Given the description of an element on the screen output the (x, y) to click on. 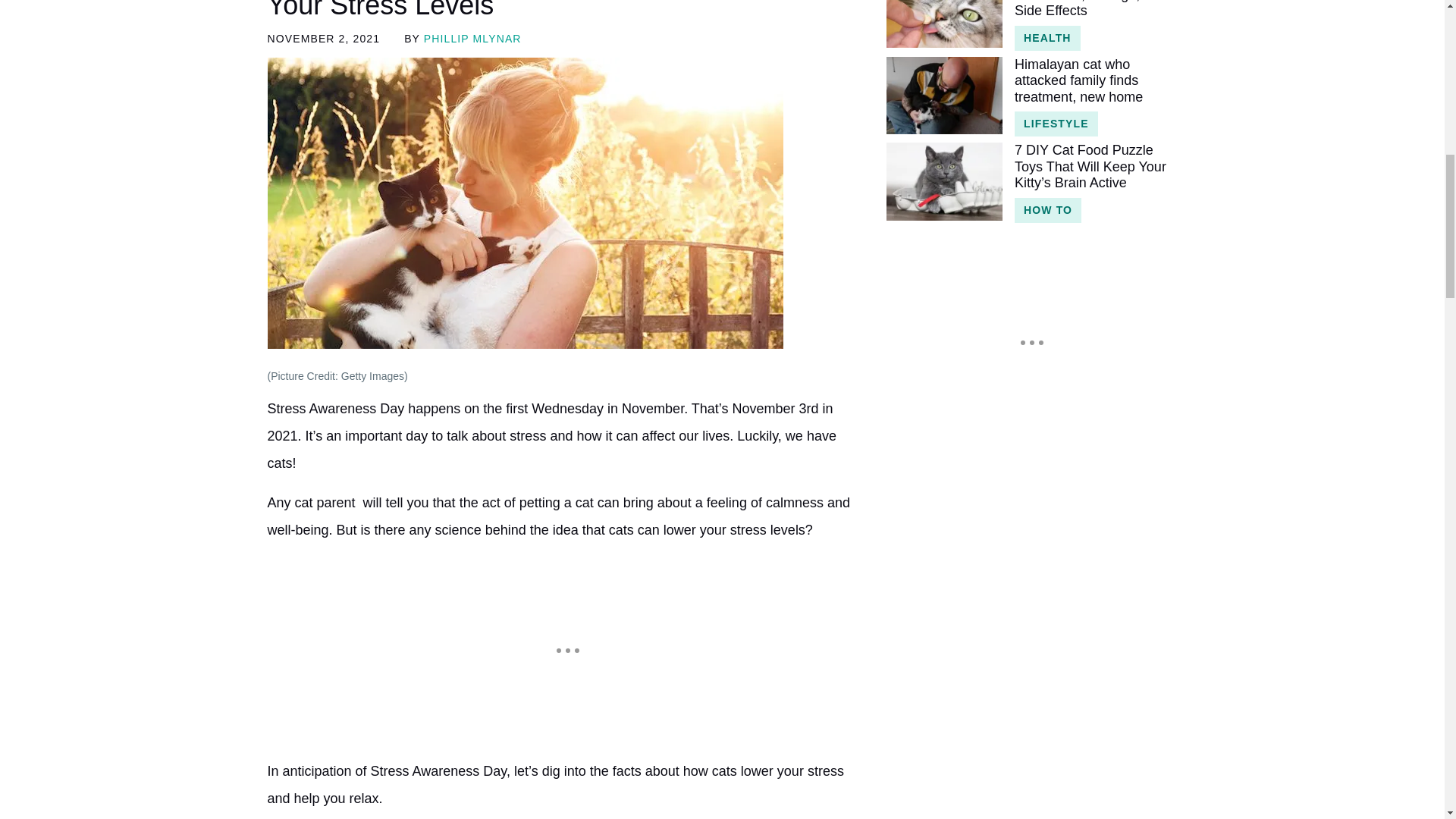
PHILLIP MLYNAR (472, 38)
Himalayan cat who attacked family finds treatment, new home (944, 95)
Himalayan cat who attacked family finds treatment, new home (1095, 81)
